Given the description of an element on the screen output the (x, y) to click on. 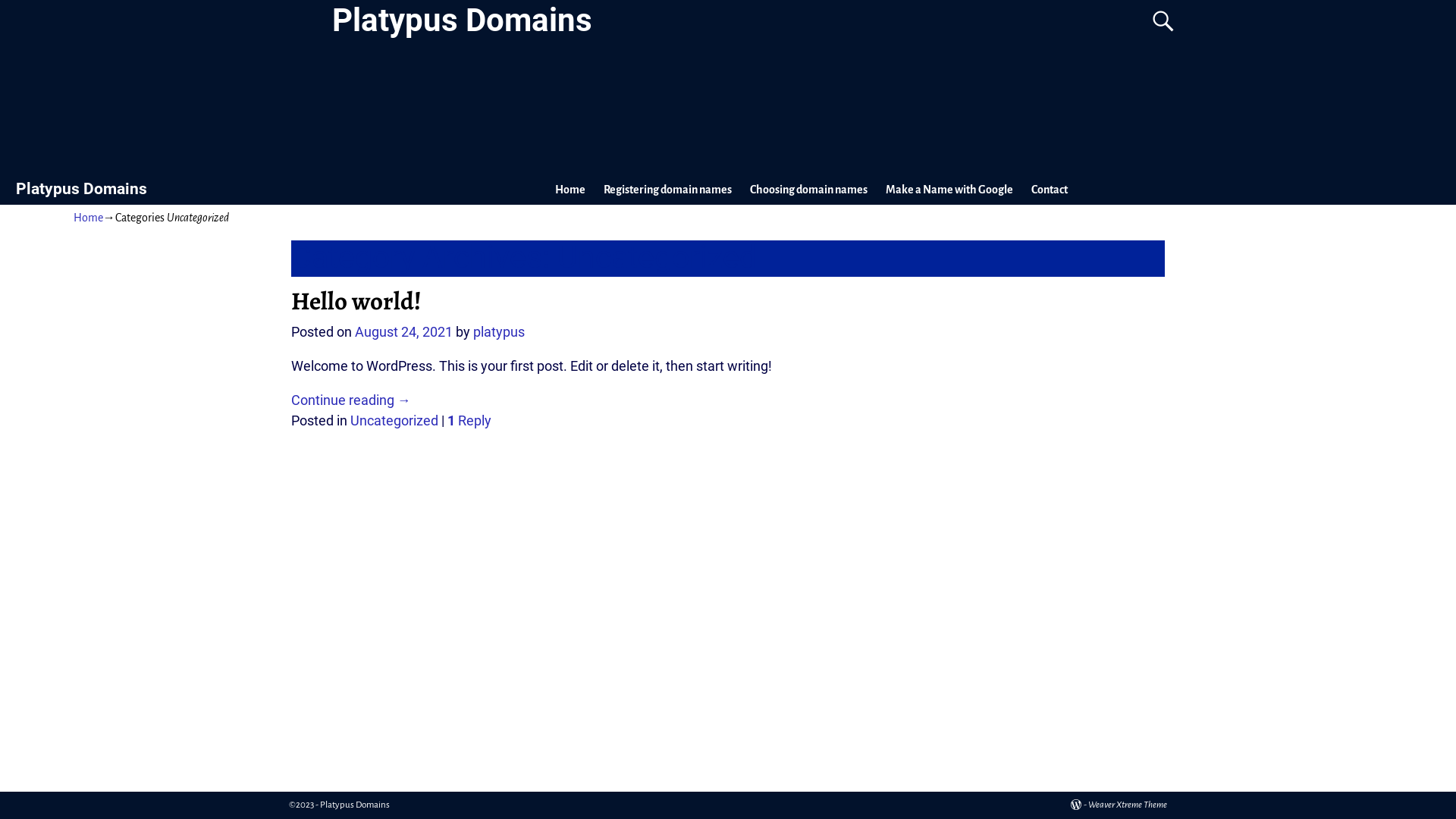
Weaver Xtreme Theme Element type: text (1127, 804)
platypus Element type: text (498, 331)
Make a Name with Google Element type: text (949, 189)
Platypus Domains Element type: text (81, 187)
Choosing domain names Element type: text (808, 189)
Platypus Domains Element type: text (462, 19)
1 Reply Element type: text (469, 420)
August 24, 2021 Element type: text (403, 331)
Home Element type: text (88, 217)
Platypus Domains Element type: text (354, 804)
- Element type: text (1079, 804)
Contact Element type: text (1049, 189)
Uncategorized Element type: text (394, 420)
Registering domain names Element type: text (667, 189)
Hello world! Element type: text (355, 300)
Home Element type: text (570, 189)
